Given the description of an element on the screen output the (x, y) to click on. 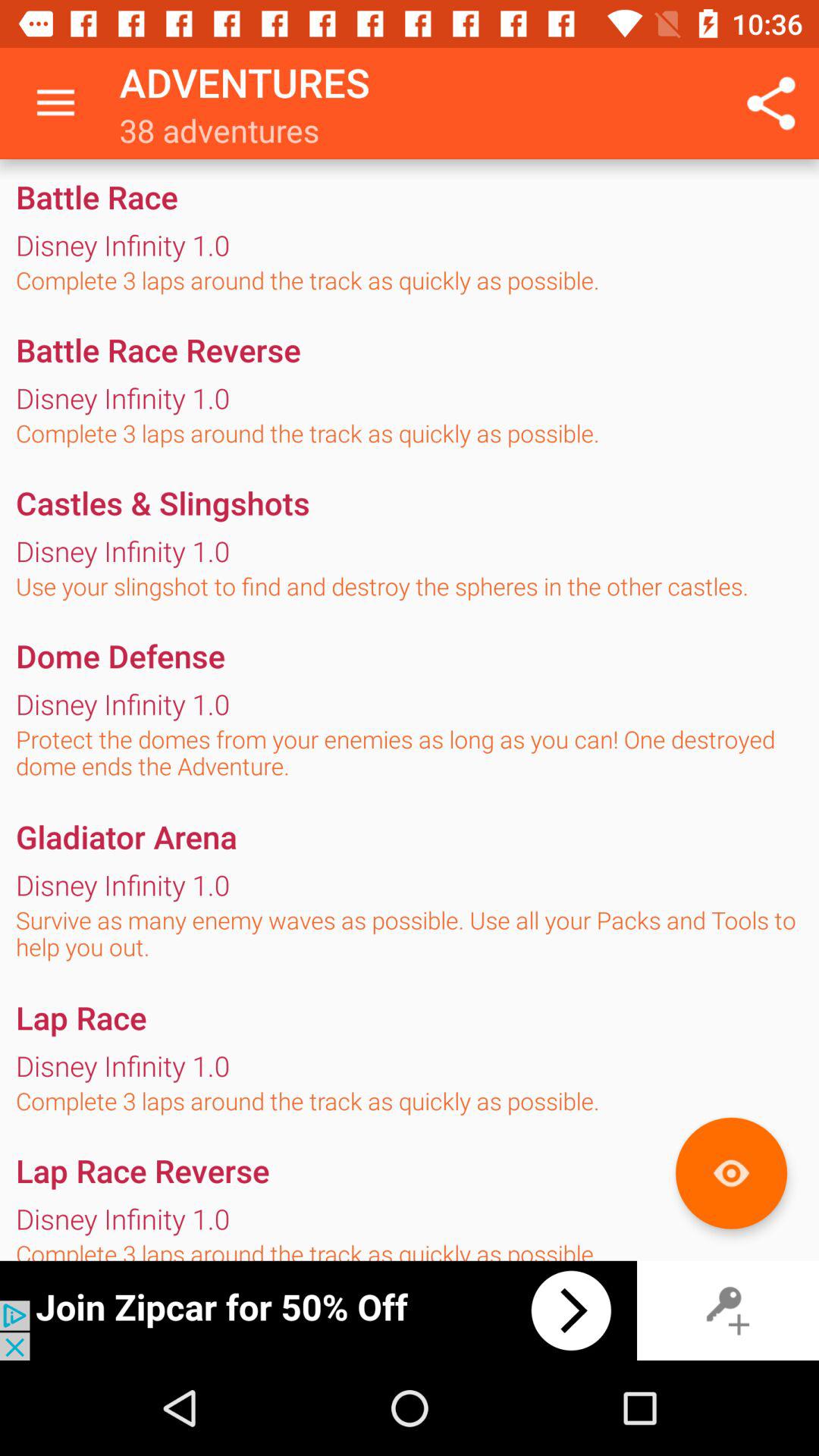
open app (318, 1310)
